Given the description of an element on the screen output the (x, y) to click on. 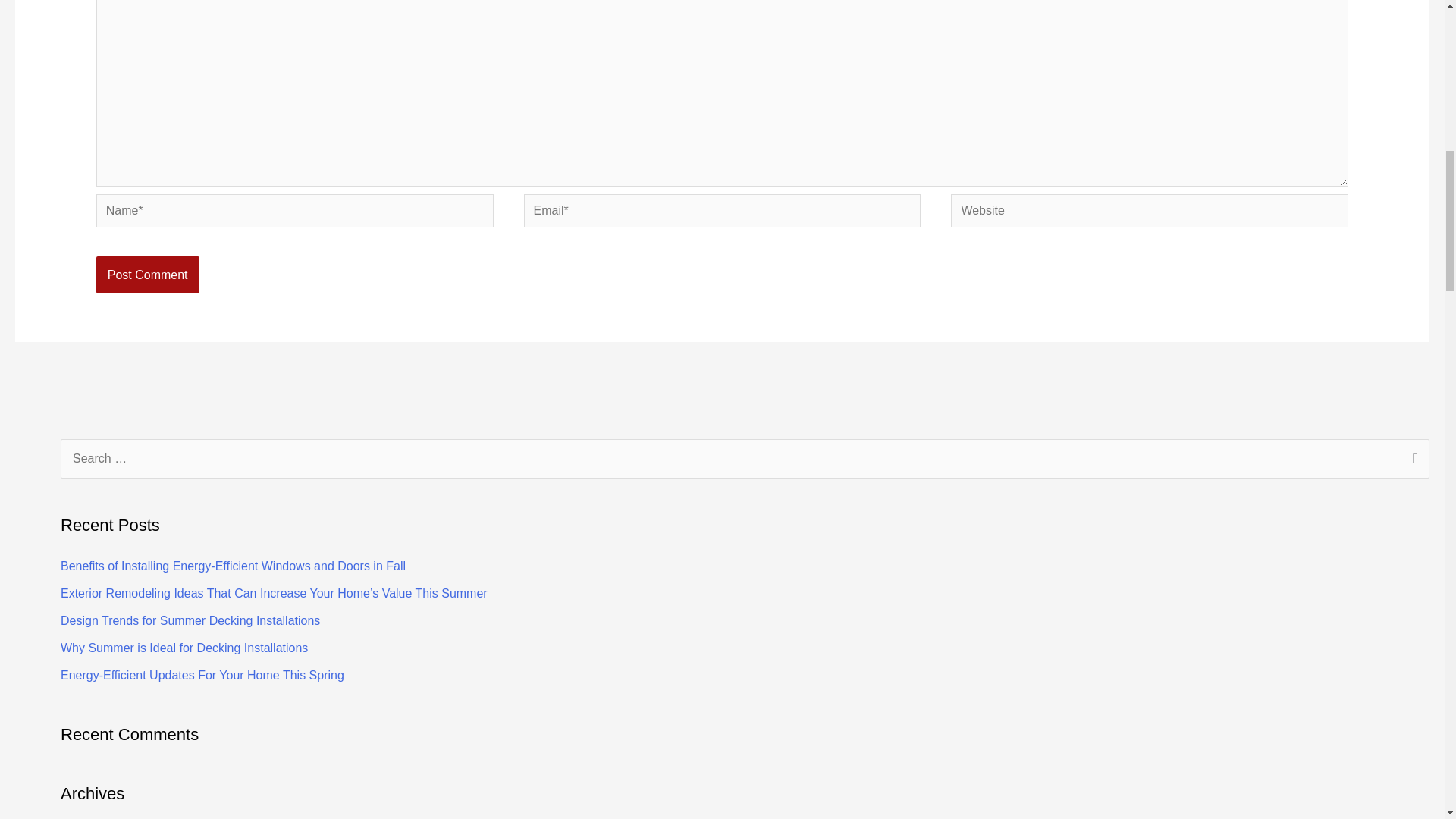
Post Comment (147, 275)
